Given the description of an element on the screen output the (x, y) to click on. 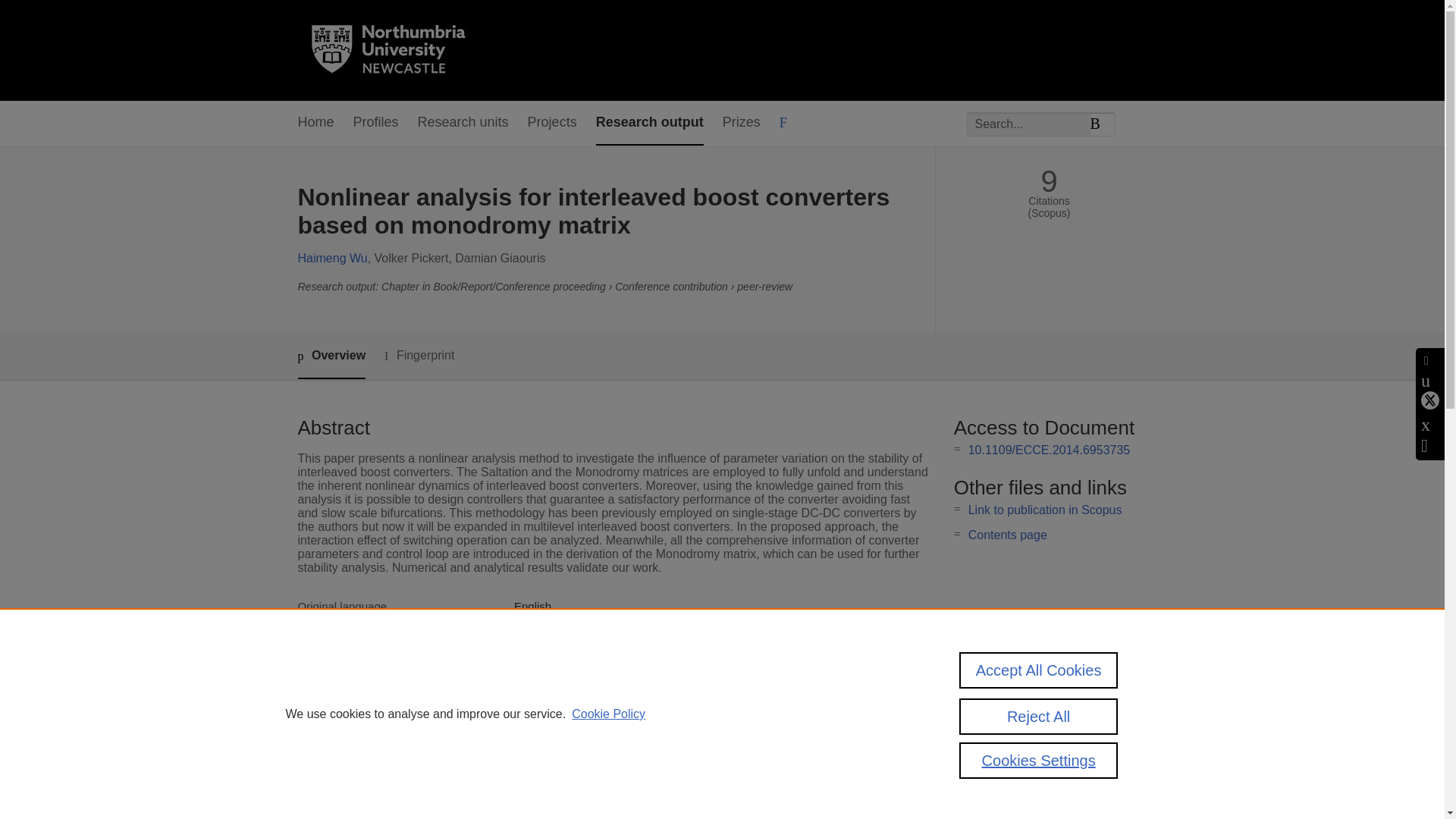
Research units (462, 122)
Contents page (1007, 534)
Link to publication in Scopus (1045, 509)
Research output (649, 122)
Projects (551, 122)
Profiles (375, 122)
Northumbria University Research Portal Home (398, 50)
Institute of Electrical and Electronics Engineers Inc. (643, 658)
Overview (331, 356)
